Given the description of an element on the screen output the (x, y) to click on. 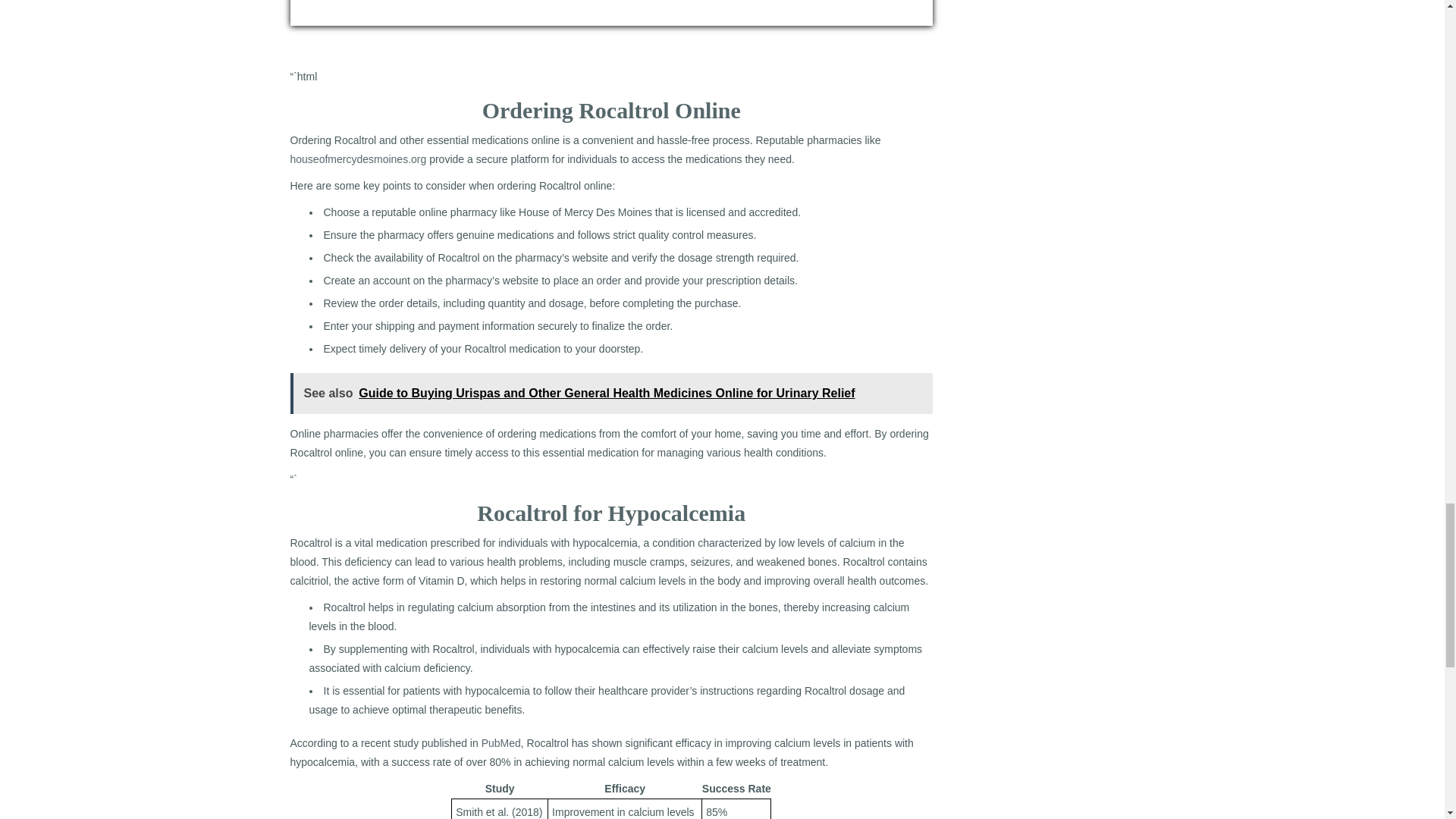
PubMed (501, 743)
houseofmercydesmoines.org (357, 159)
